Given the description of an element on the screen output the (x, y) to click on. 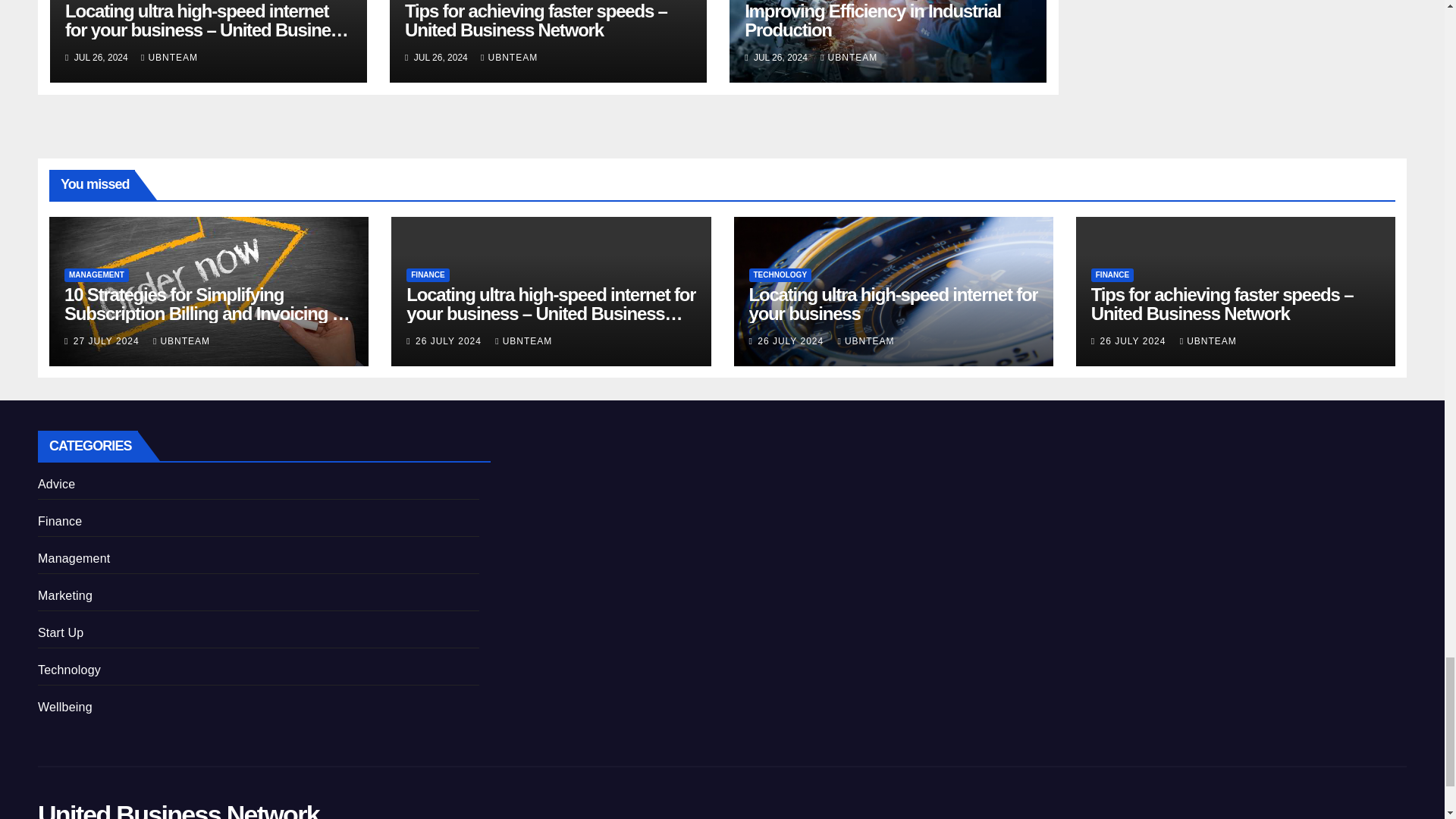
Permalink to: Improving Efficiency in Industrial Production (872, 20)
